Given the description of an element on the screen output the (x, y) to click on. 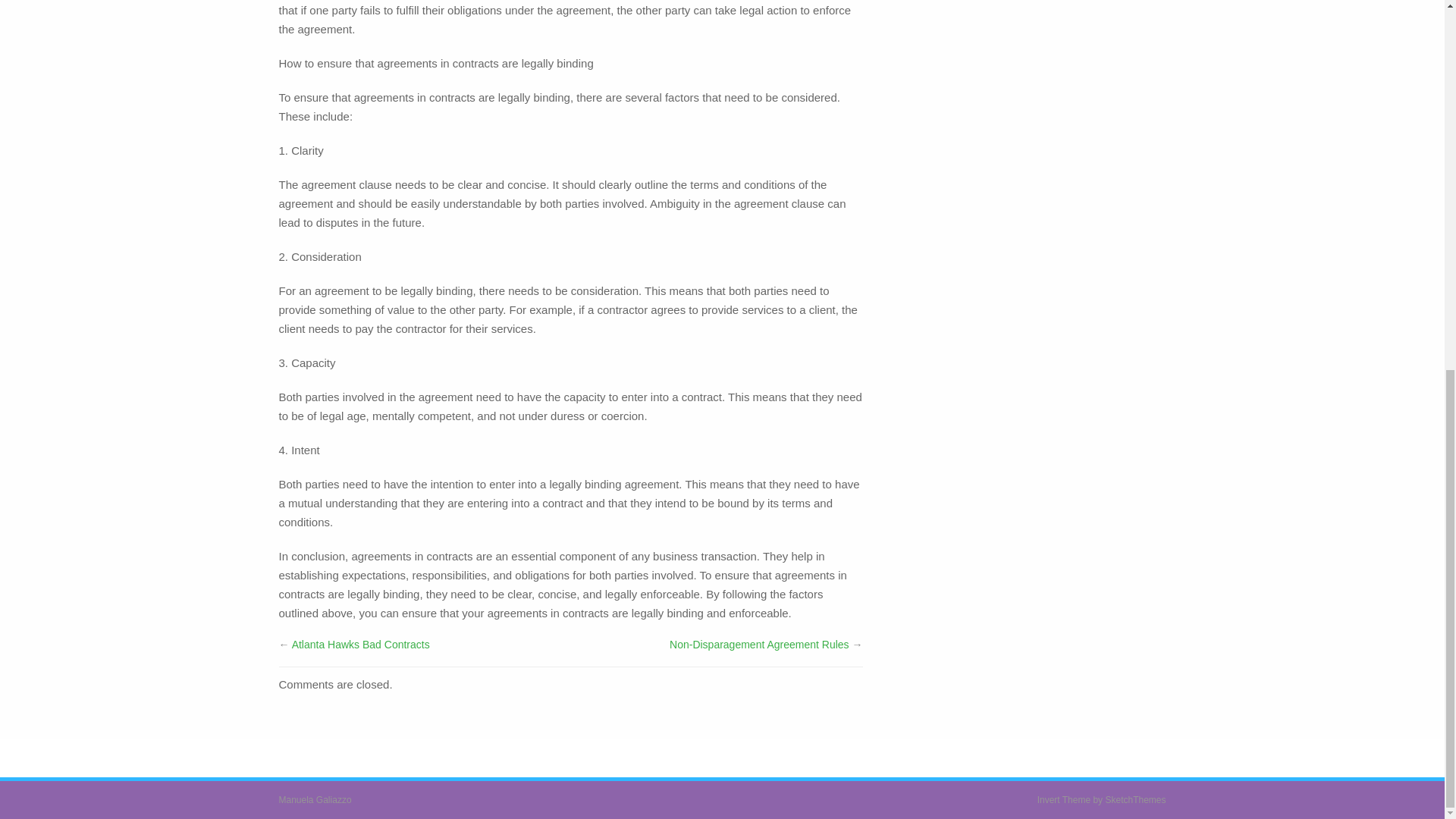
Sketch Themes (1135, 799)
Non-Disparagement Agreement Rules (758, 644)
SketchThemes (1135, 799)
Atlanta Hawks Bad Contracts (360, 644)
